Given the description of an element on the screen output the (x, y) to click on. 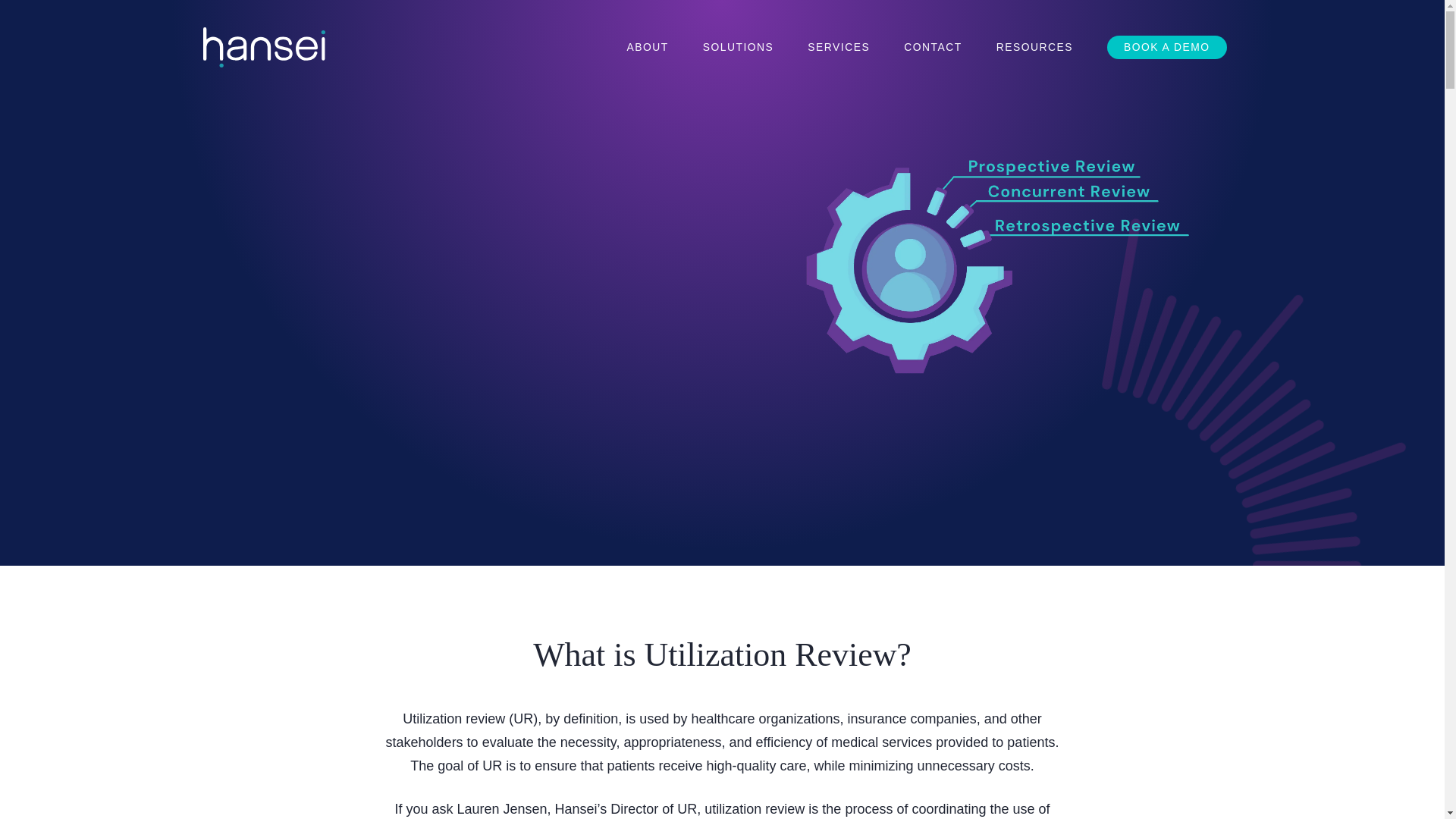
ABOUT (647, 47)
RESOURCES (1034, 47)
SOLUTIONS (738, 47)
SERVICES (838, 47)
BOOK A DEMO (1166, 47)
CONTACT (932, 47)
